Given the description of an element on the screen output the (x, y) to click on. 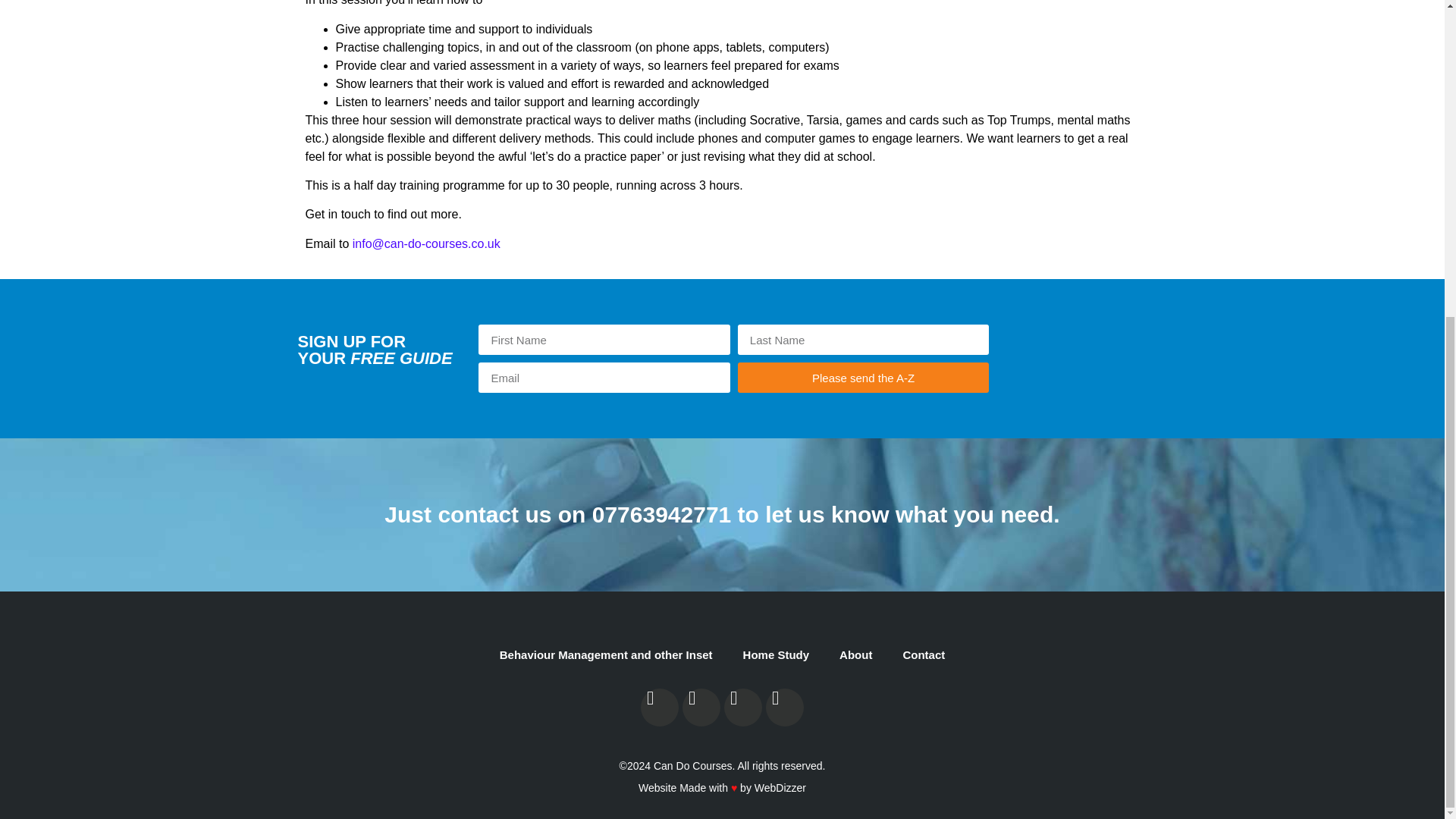
WebDizzer (780, 787)
Home Study (775, 655)
07763942771 (662, 514)
Please send the A-Z (863, 377)
Contact (923, 655)
Behaviour Management and other Inset (606, 655)
About (856, 655)
